Given the description of an element on the screen output the (x, y) to click on. 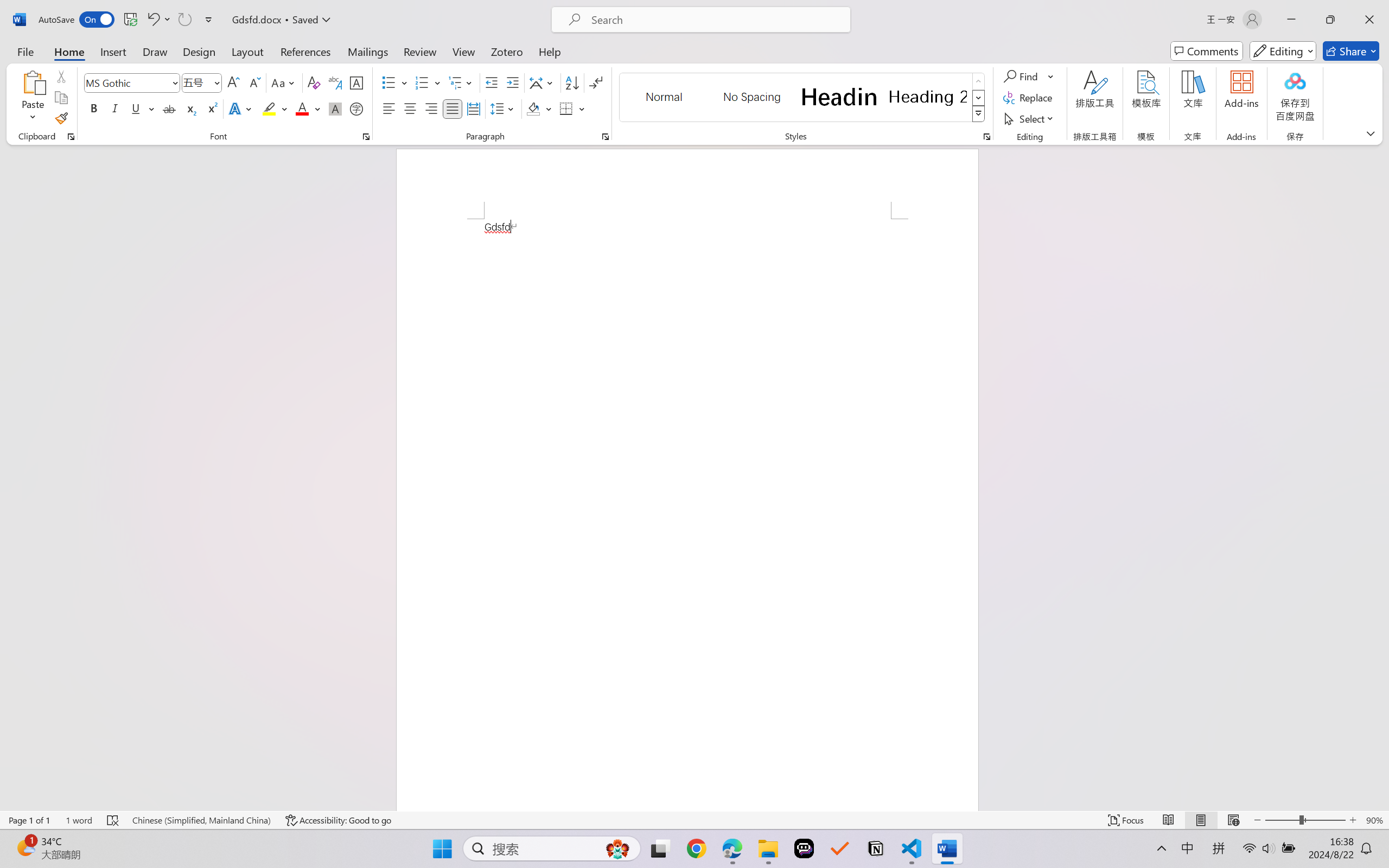
Language Chinese (Simplified, Mainland China) (201, 819)
